Given the description of an element on the screen output the (x, y) to click on. 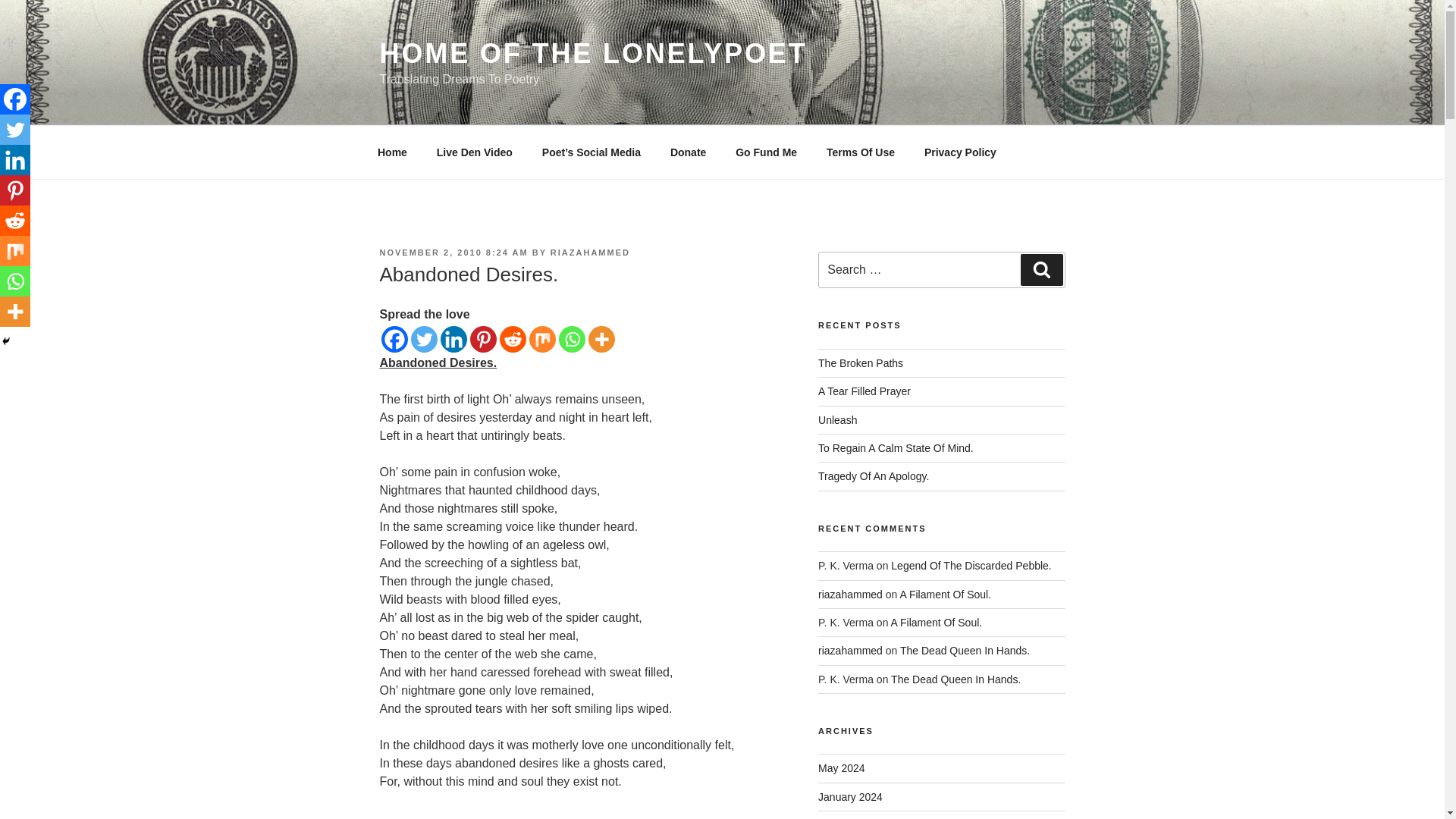
More (15, 311)
Reddit (15, 220)
RIAZAHAMMED (590, 252)
Pinterest (483, 338)
More (601, 338)
Twitter (424, 338)
Reddit (512, 338)
Privacy Policy (960, 151)
Whatsapp (15, 281)
Pinterest (15, 190)
Linkedin (15, 159)
Live Den Video (474, 151)
Terms Of Use (860, 151)
Twitter (15, 129)
Donate (687, 151)
